Given the description of an element on the screen output the (x, y) to click on. 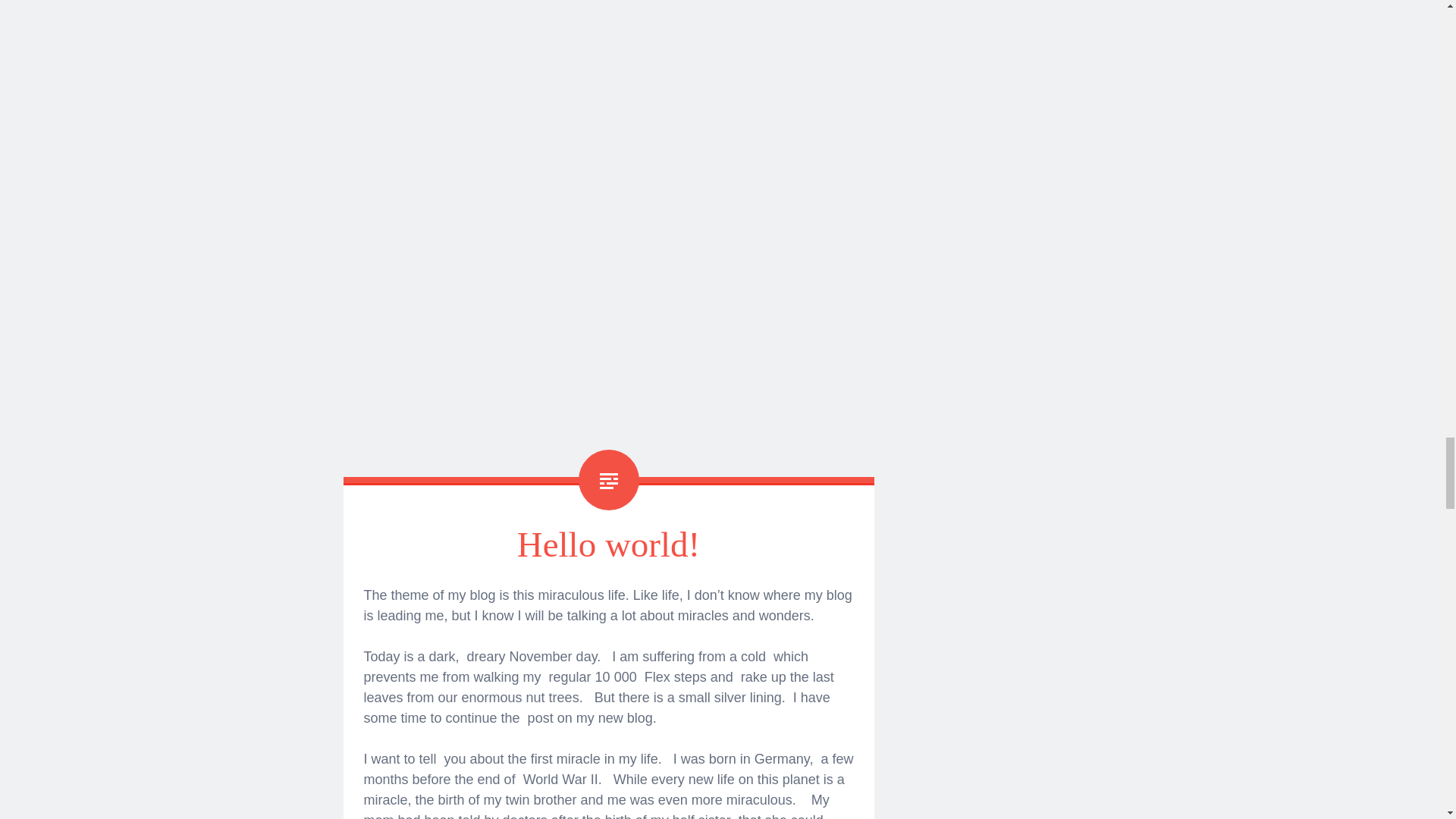
Hello world! (608, 544)
